Given the description of an element on the screen output the (x, y) to click on. 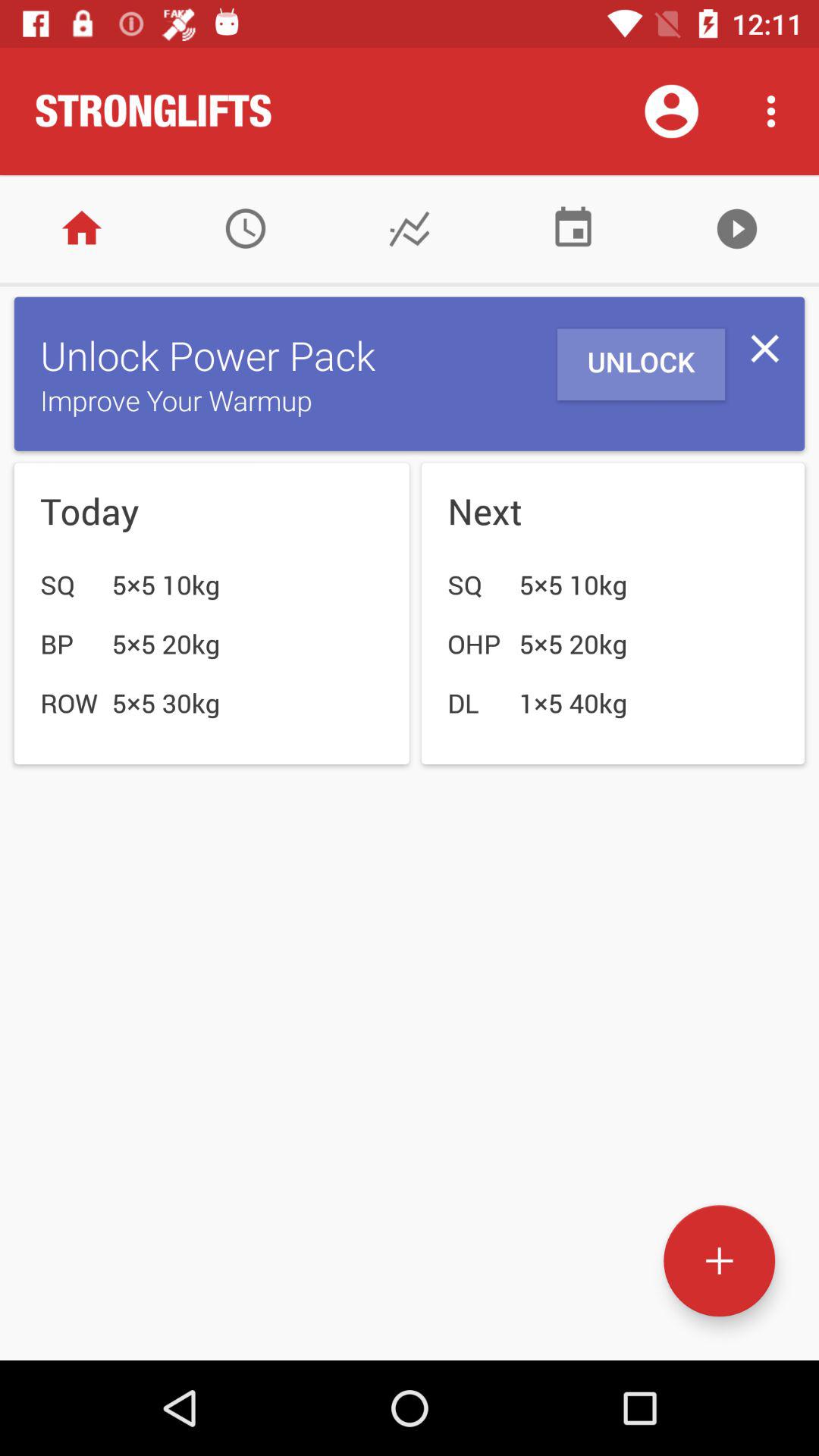
turn off icon below the unlock (719, 1260)
